Given the description of an element on the screen output the (x, y) to click on. 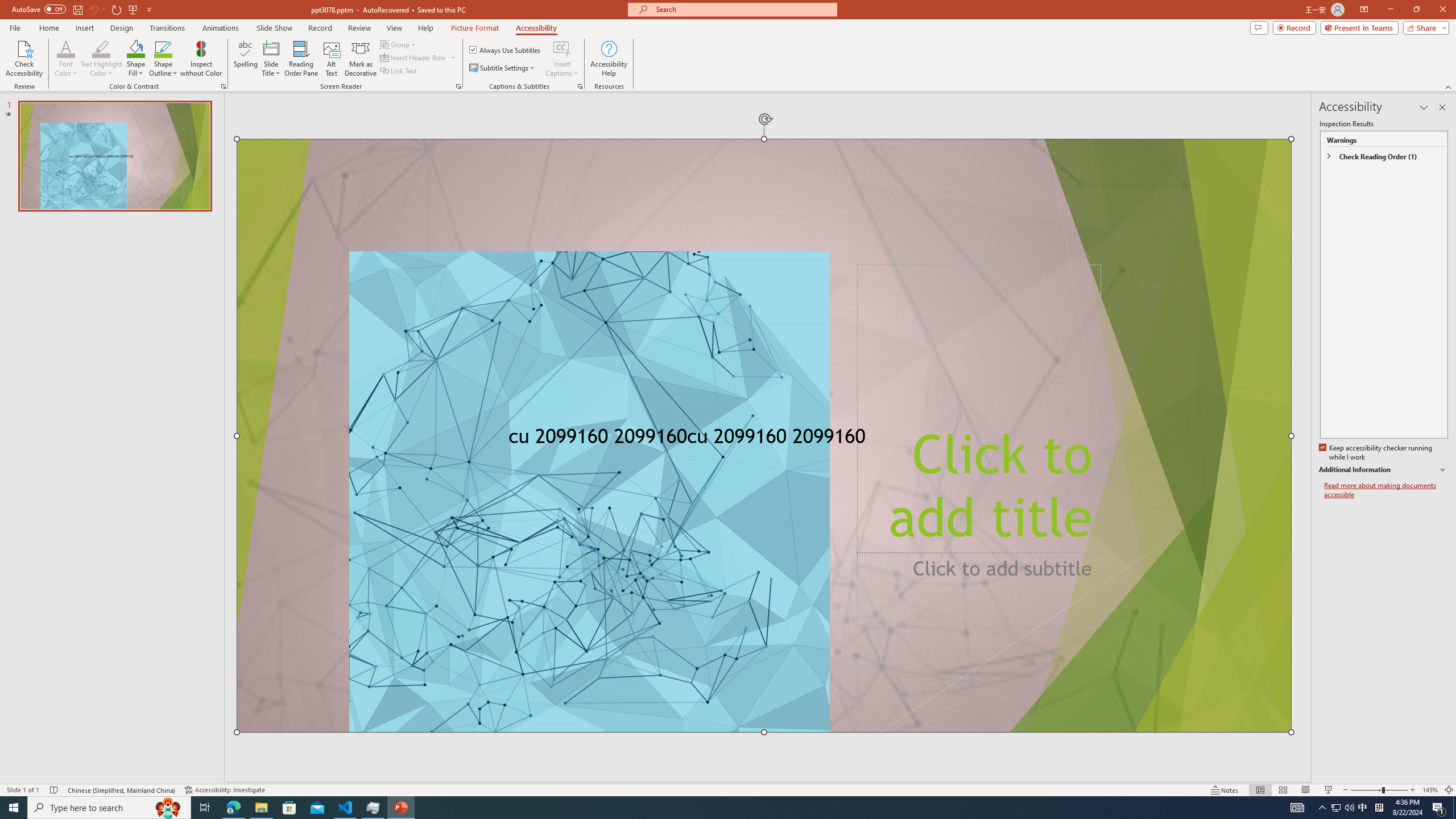
Accessibility Help (608, 58)
Inspect without Color (201, 58)
